Given the description of an element on the screen output the (x, y) to click on. 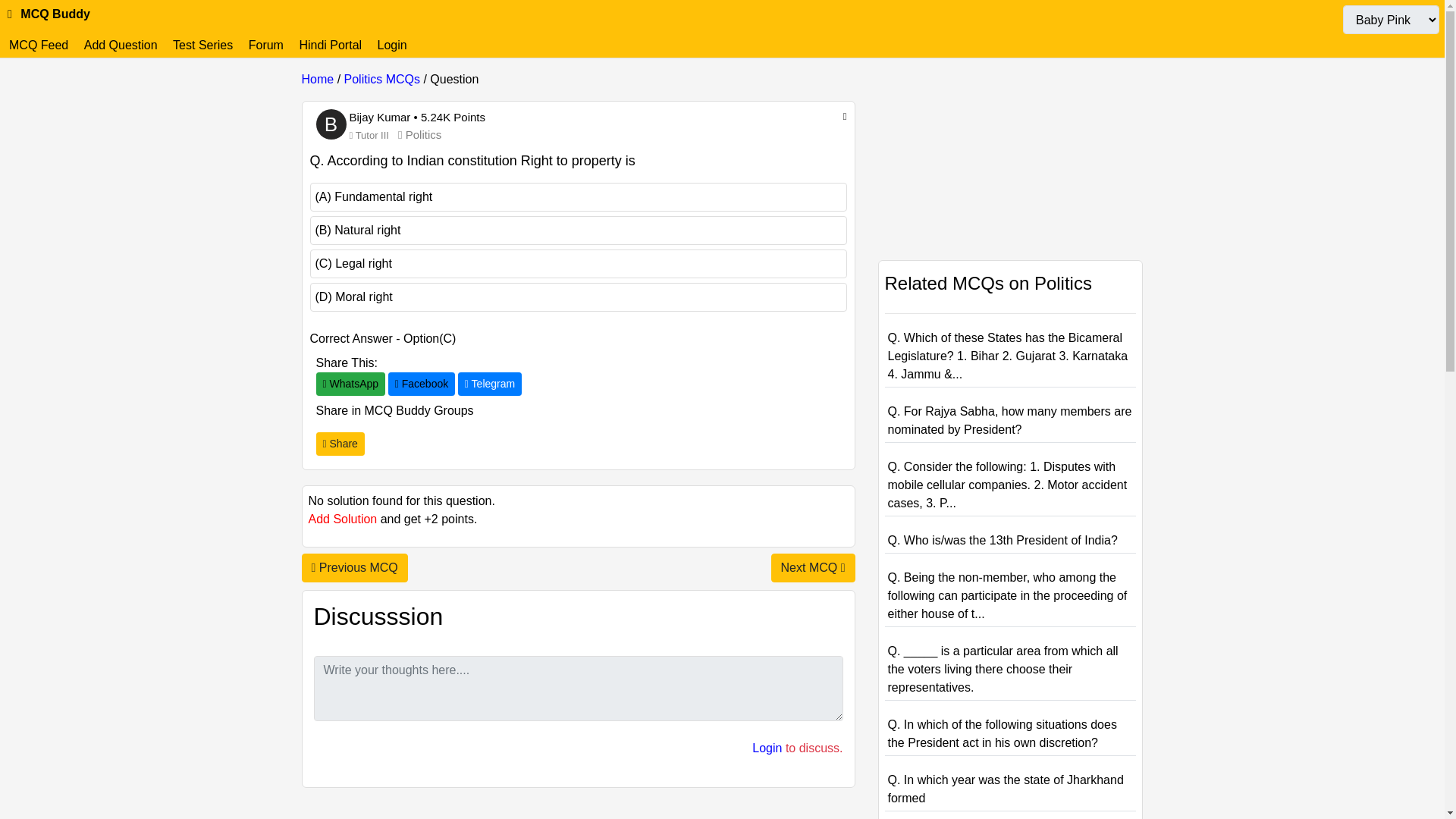
Login (766, 748)
Politics MCQs (381, 78)
Login (392, 44)
Hindi Portal (330, 44)
MCQ Feed (38, 44)
Politics (419, 133)
Home (317, 78)
Previous MCQ (354, 567)
Q. In which year was the state of Jharkhand formed (1004, 788)
Telegram (489, 383)
Bijay Kumar (381, 116)
Test Series (202, 44)
